Given the description of an element on the screen output the (x, y) to click on. 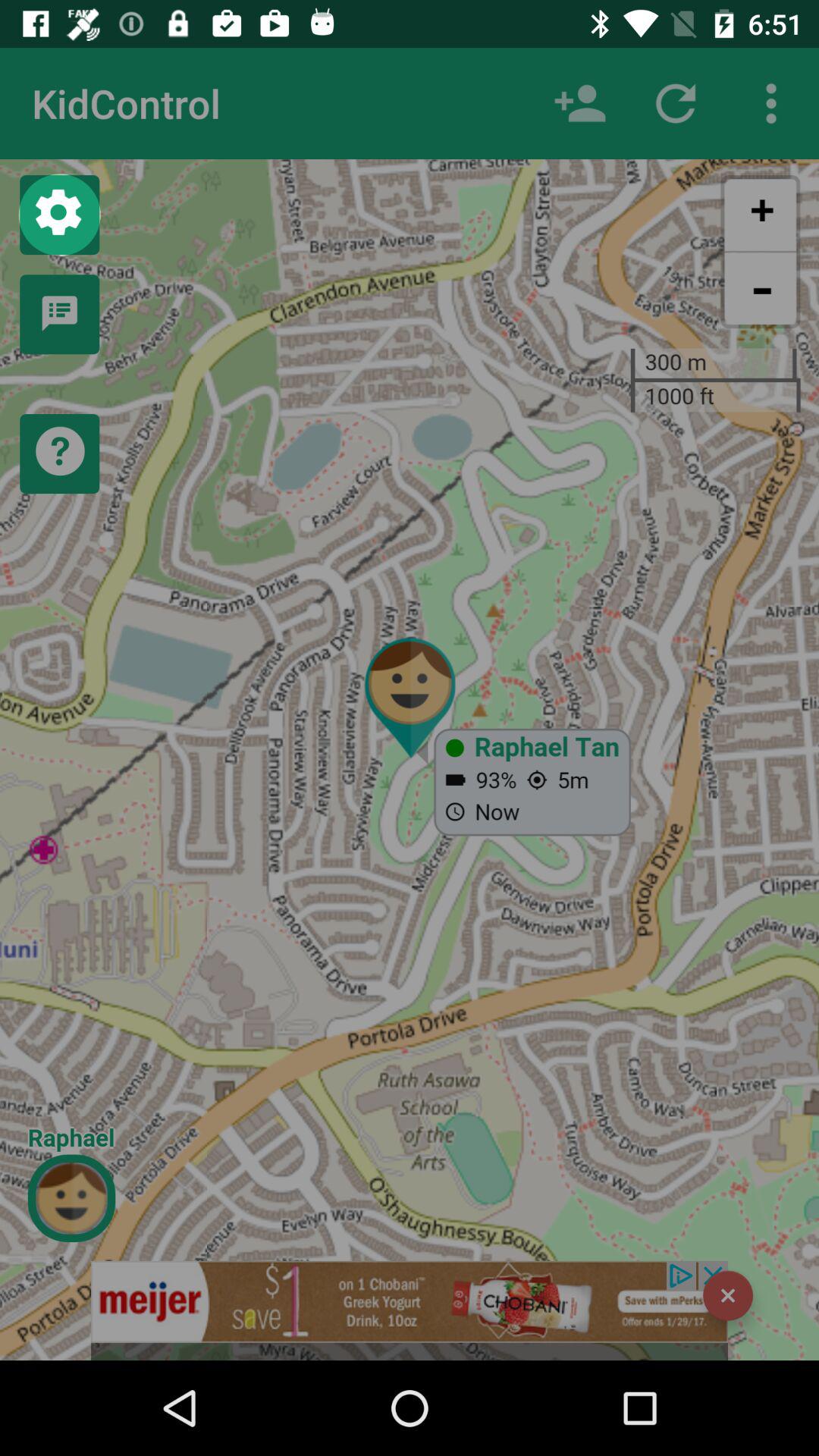
this icon is used to find persons (579, 103)
